Given the description of an element on the screen output the (x, y) to click on. 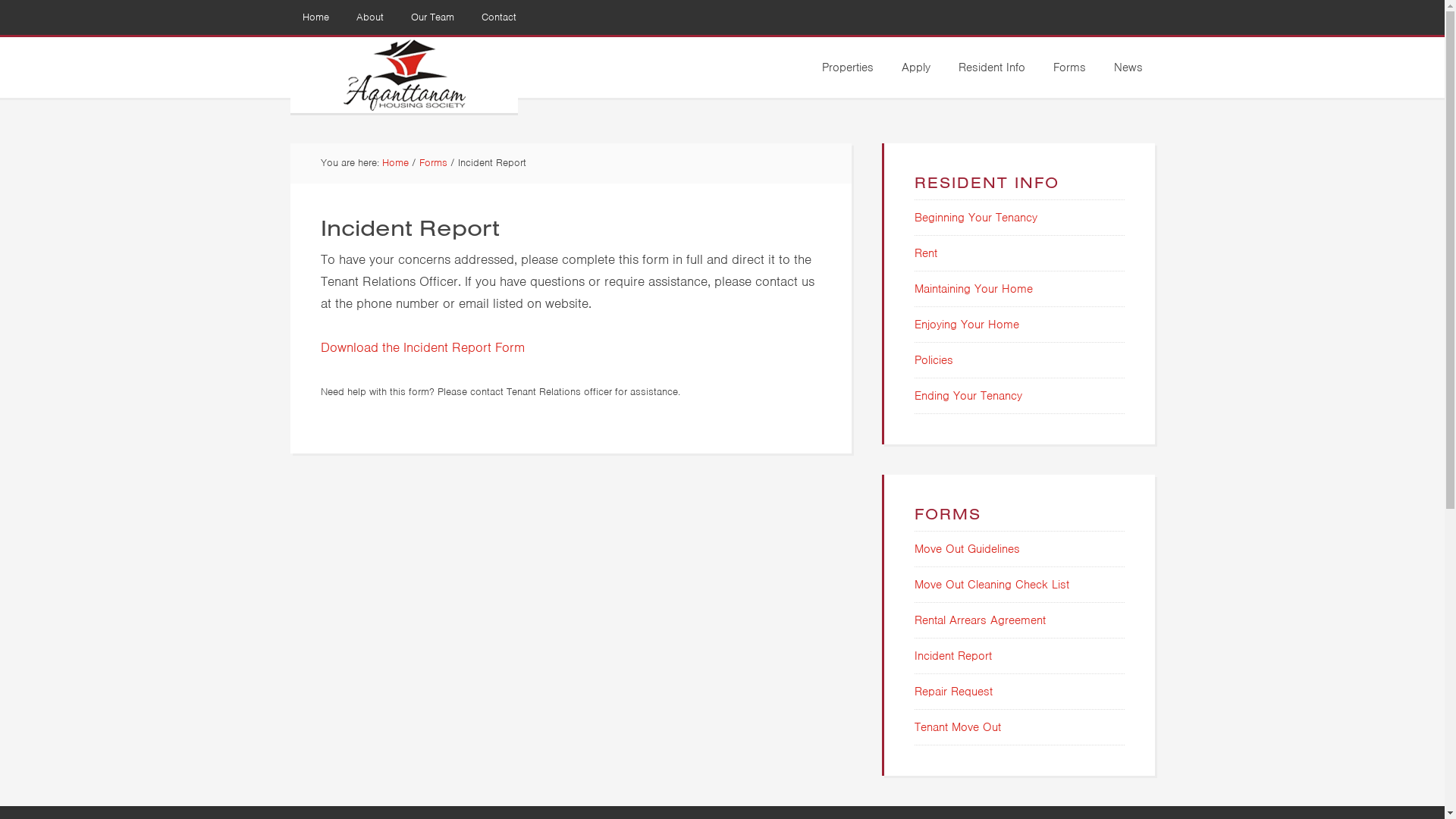
Repair Request Element type: text (953, 691)
News Element type: text (1127, 67)
About Element type: text (369, 17)
AQANTTANAM HOUSING SOCIETY Element type: text (403, 74)
Maintaining Your Home Element type: text (973, 288)
Properties Element type: text (847, 67)
Rent Element type: text (925, 252)
Download the Incident Report Form Element type: text (422, 346)
Apply Element type: text (914, 67)
Move Out Guidelines Element type: text (966, 548)
Enjoying Your Home Element type: text (966, 324)
Move Out Cleaning Check List Element type: text (991, 584)
Rental Arrears Agreement Element type: text (979, 619)
Policies Element type: text (933, 359)
Tenant Move Out Element type: text (957, 726)
Beginning Your Tenancy Element type: text (975, 217)
Forms Element type: text (1068, 67)
Home Element type: text (395, 162)
Ending Your Tenancy Element type: text (968, 395)
Forms Element type: text (432, 162)
Home Element type: text (314, 17)
Contact Element type: text (497, 17)
Our Team Element type: text (432, 17)
Resident Info Element type: text (991, 67)
Incident Report Element type: text (952, 655)
